Given the description of an element on the screen output the (x, y) to click on. 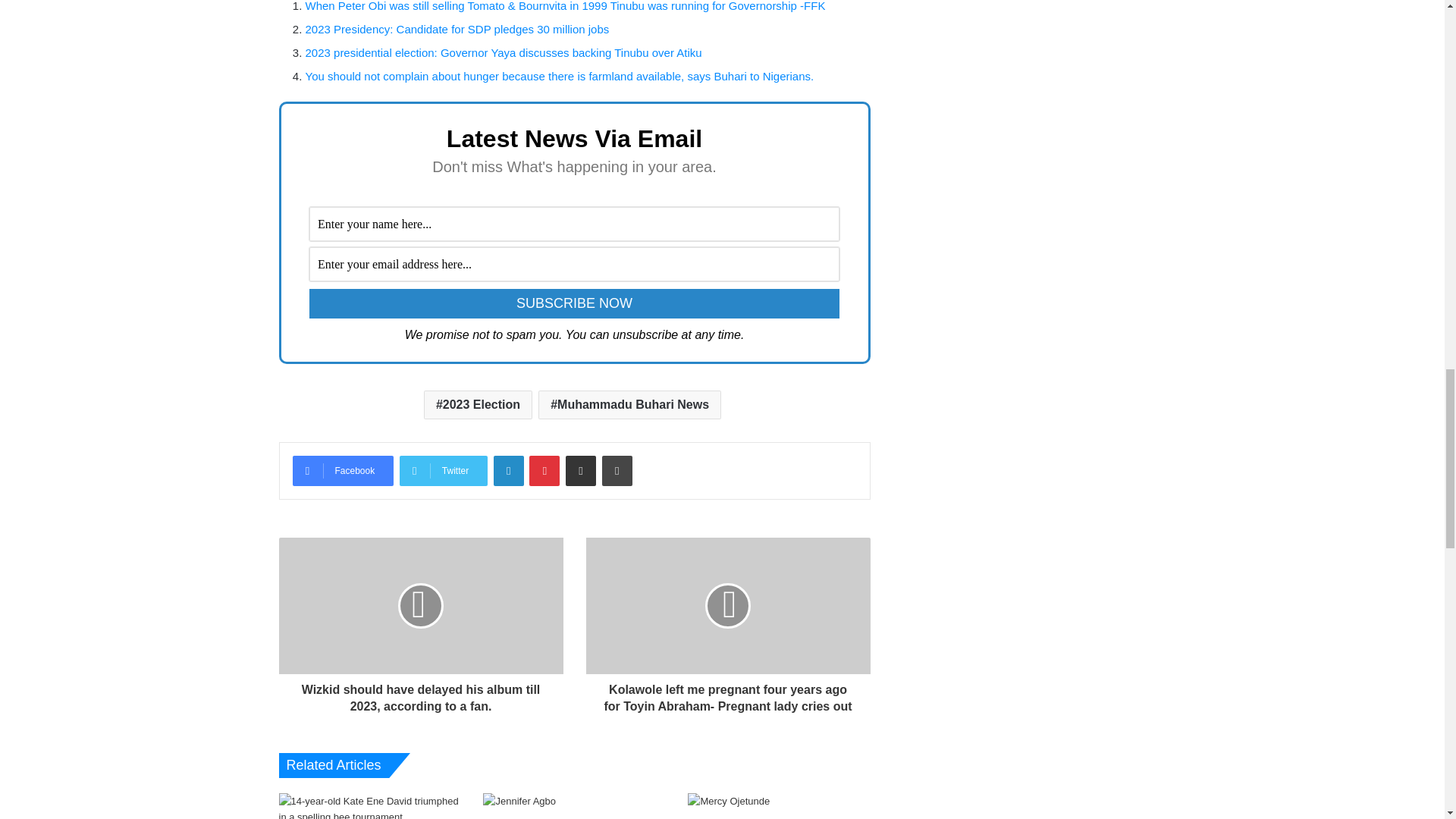
2023 Presidency: Candidate for SDP pledges 30 million jobs (456, 29)
Subscribe Now (574, 303)
